Given the description of an element on the screen output the (x, y) to click on. 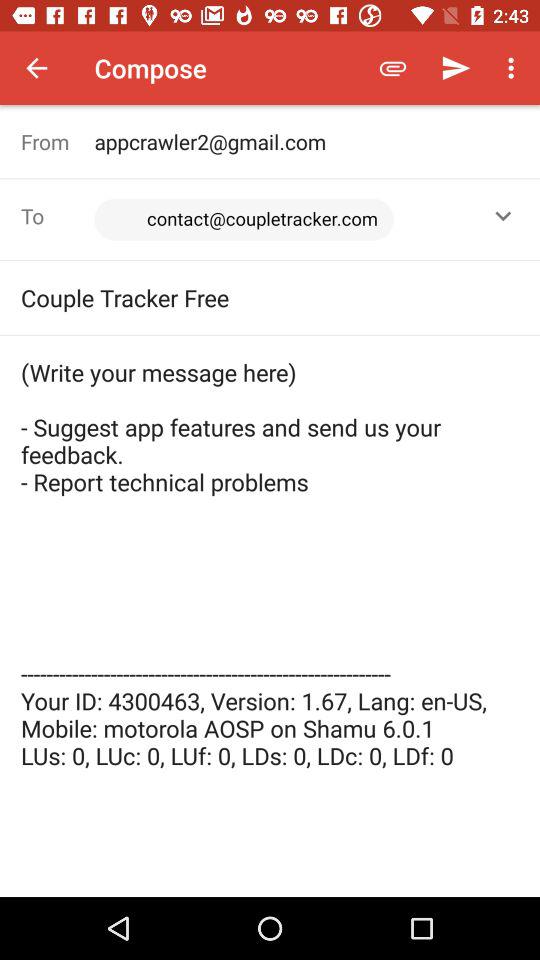
choose item next to the compose (392, 67)
